Given the description of an element on the screen output the (x, y) to click on. 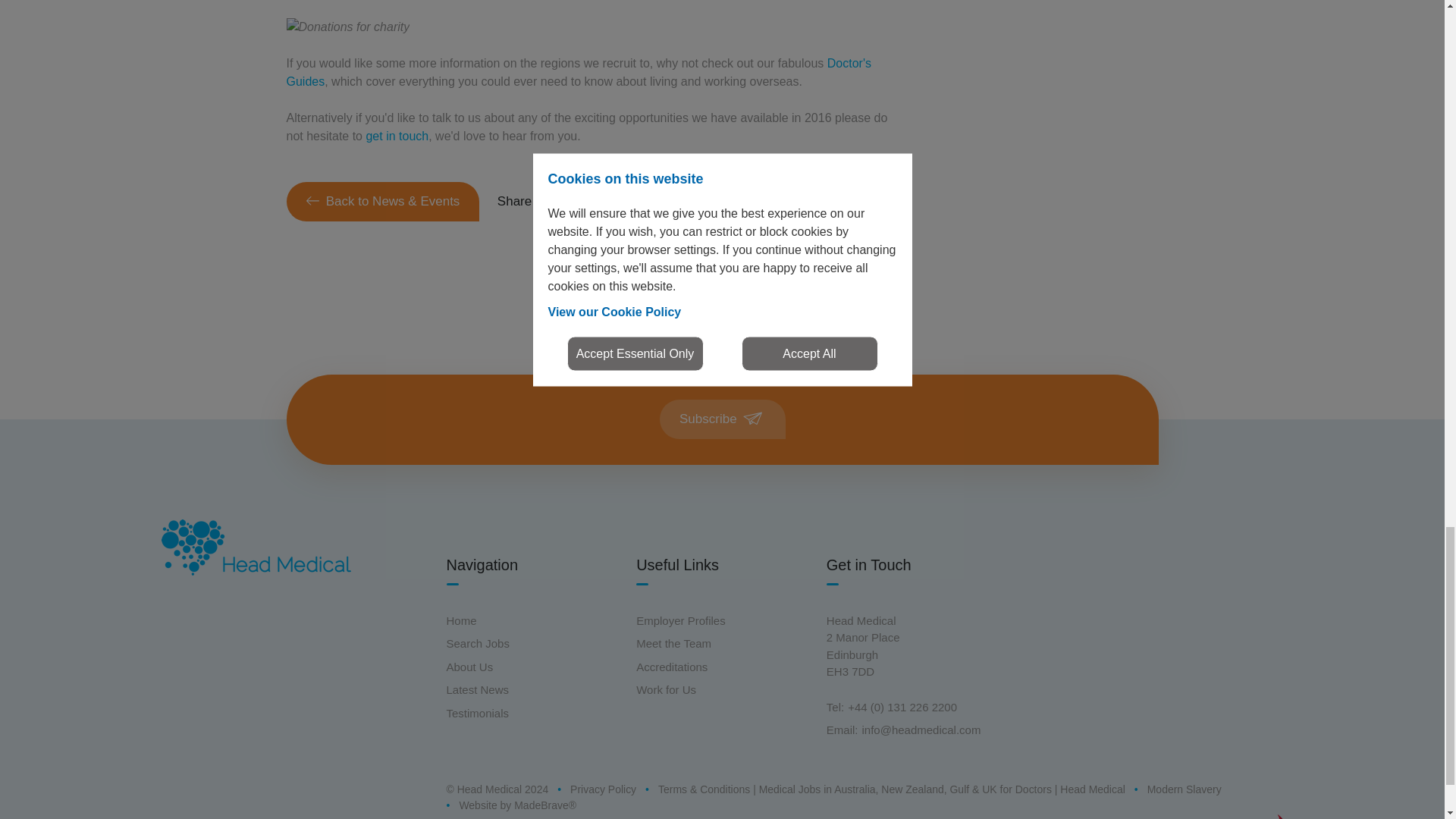
Head Medical (255, 547)
Recruitment Software - Firefish Software (1233, 817)
Telephone (834, 707)
